Given the description of an element on the screen output the (x, y) to click on. 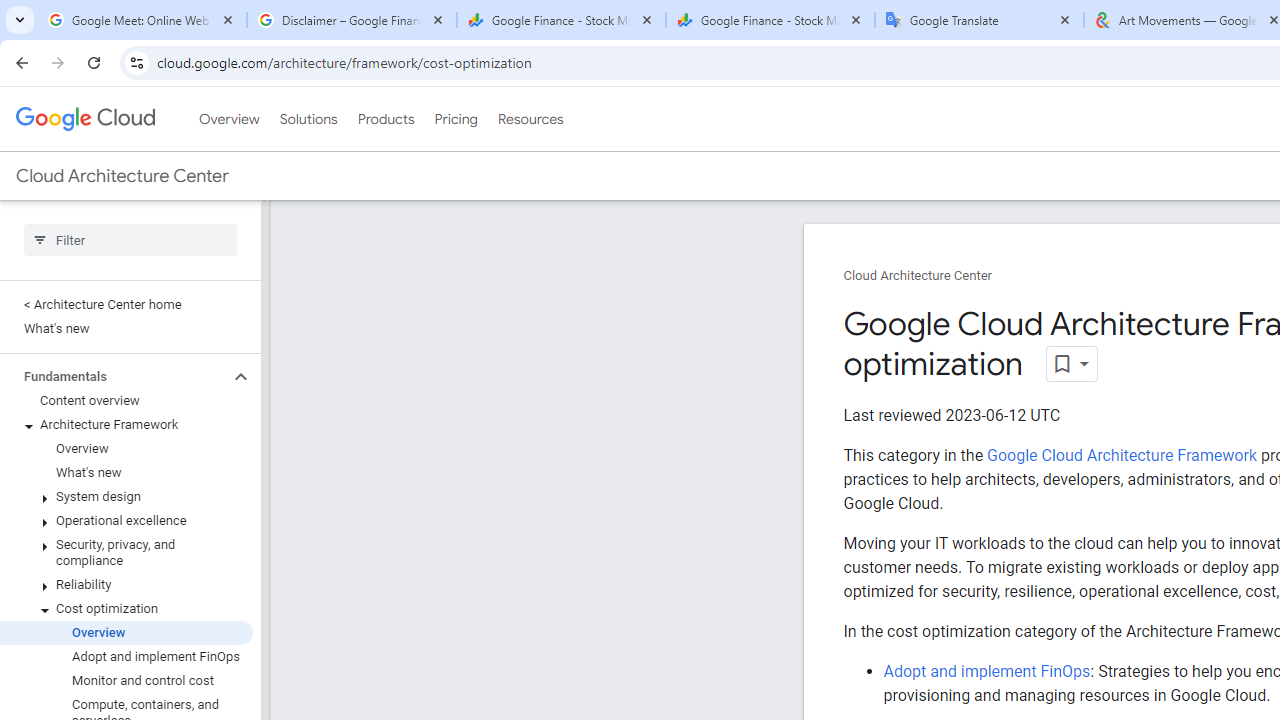
Google Cloud (84, 118)
Content overview (126, 400)
Resources (530, 119)
Reliability (126, 584)
Cloud Architecture Center (917, 276)
Pricing (455, 119)
Open dropdown (1072, 364)
What's new (126, 472)
System design (126, 497)
Operational excellence (126, 520)
